Given the description of an element on the screen output the (x, y) to click on. 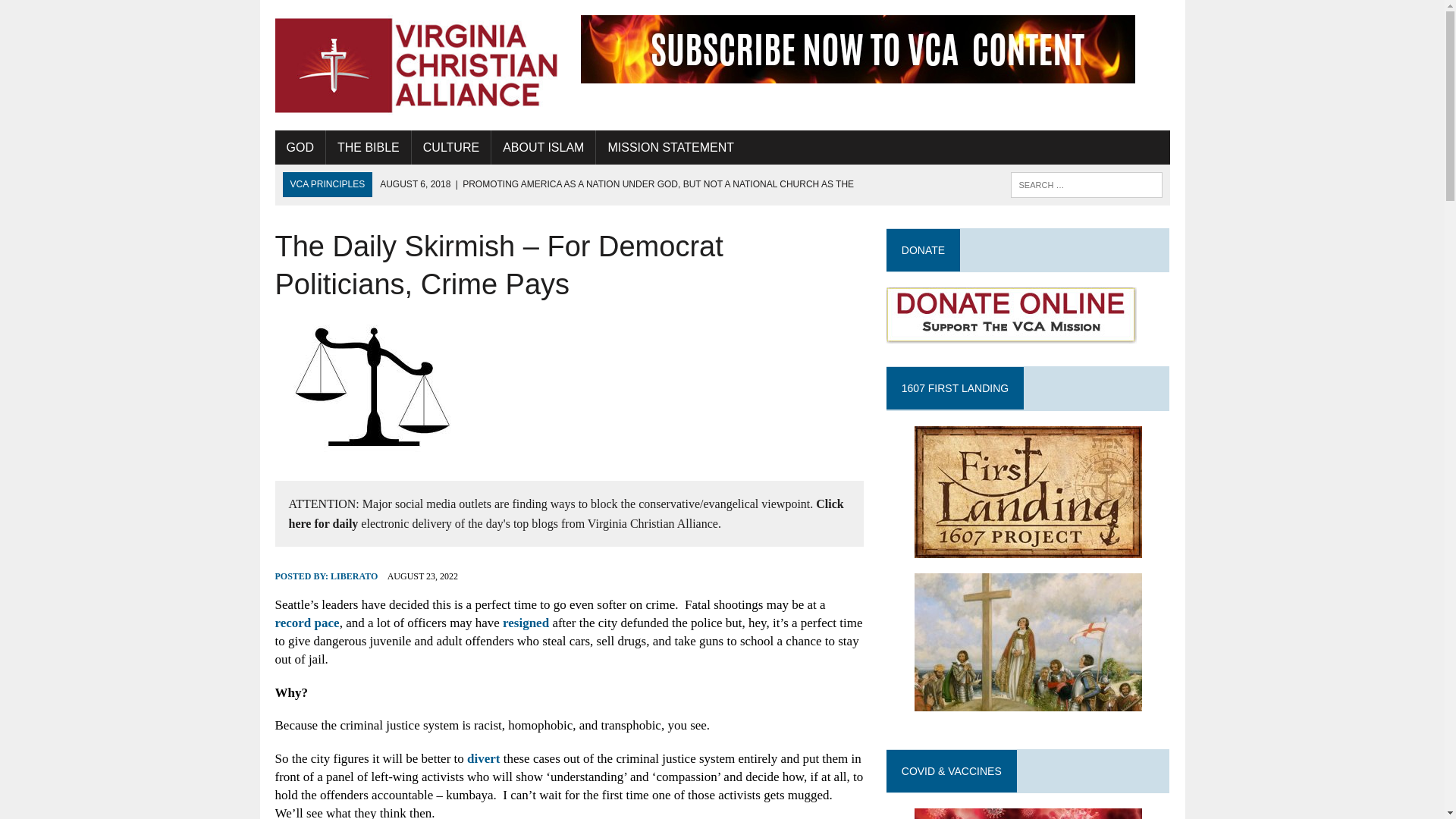
Search (75, 14)
GOD (299, 147)
Virginia Christian Alliance (416, 65)
resigned (525, 622)
CULTURE (451, 147)
record pace (307, 622)
LIBERATO (353, 575)
THE BIBLE (368, 147)
divert (483, 758)
